Given the description of an element on the screen output the (x, y) to click on. 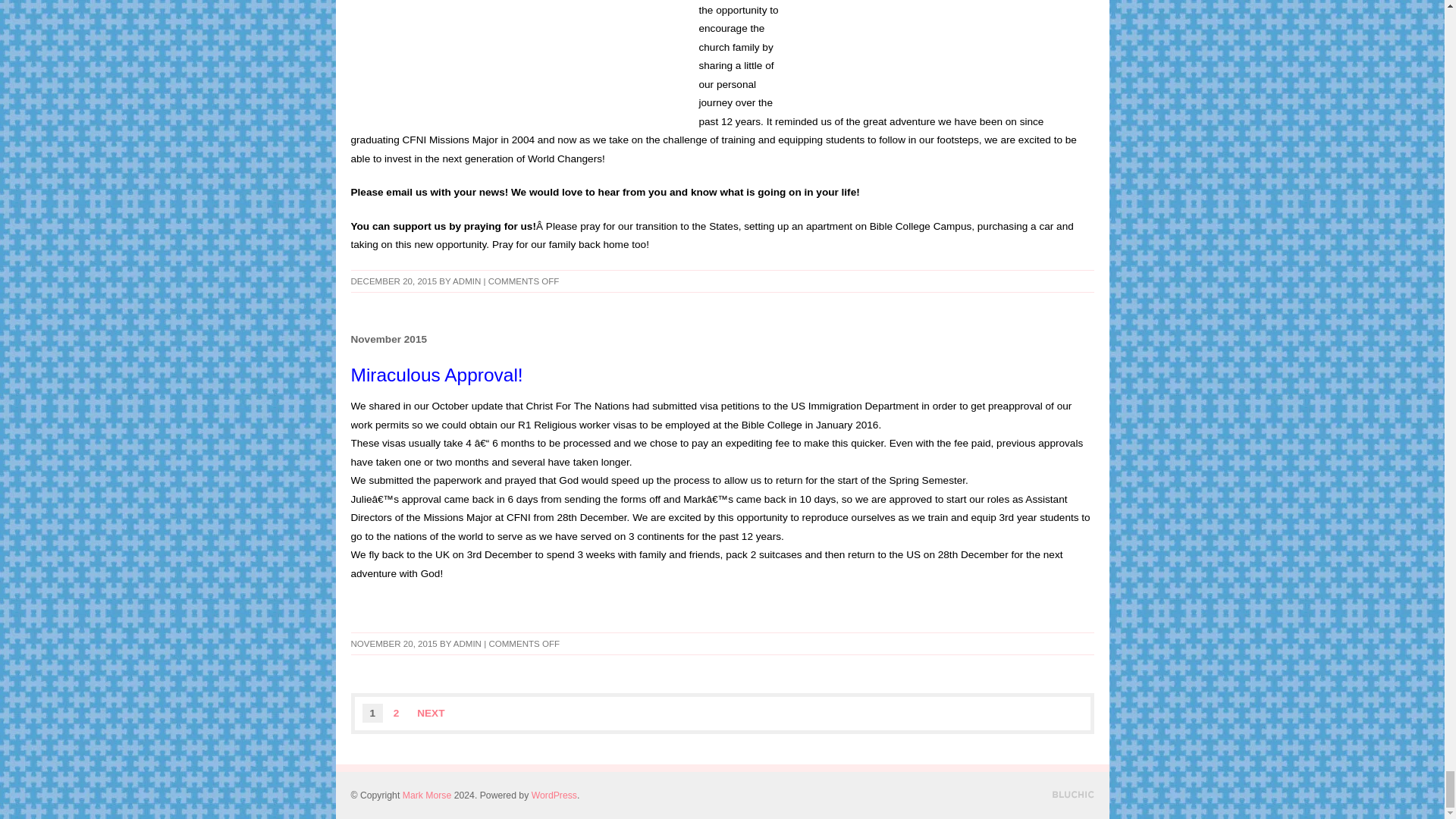
NEXT (430, 712)
Designed by BluChic (1073, 795)
Theme designed by BluChic (1073, 795)
2 (396, 712)
WordPress (553, 795)
Mark Morse (427, 795)
